Given the description of an element on the screen output the (x, y) to click on. 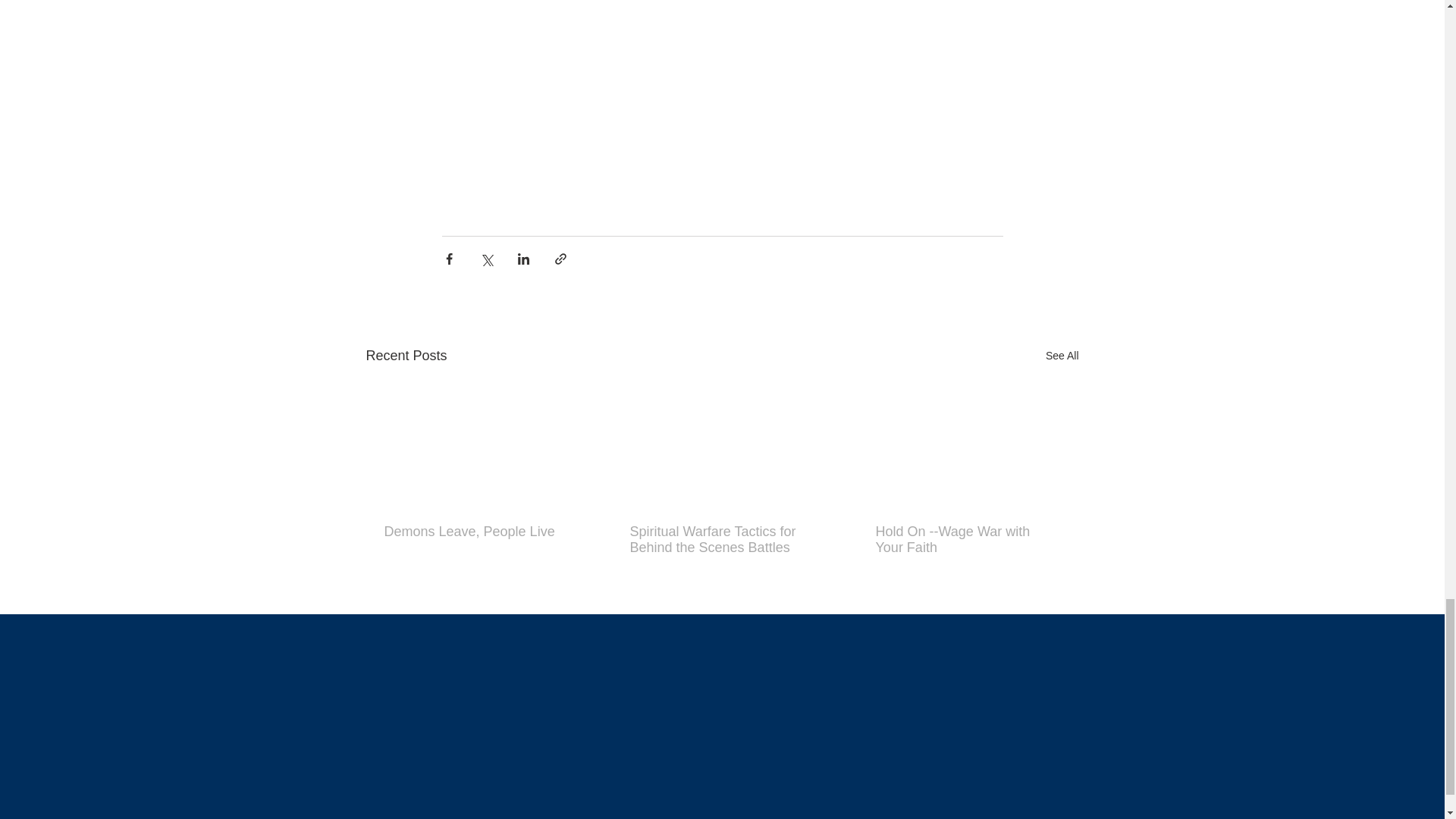
See All (1061, 355)
Demons Leave, People Live (475, 531)
Spiritual Warfare Tactics for Behind the Scenes Battles (720, 540)
Hold On --Wage War with Your Faith (966, 540)
